Given the description of an element on the screen output the (x, y) to click on. 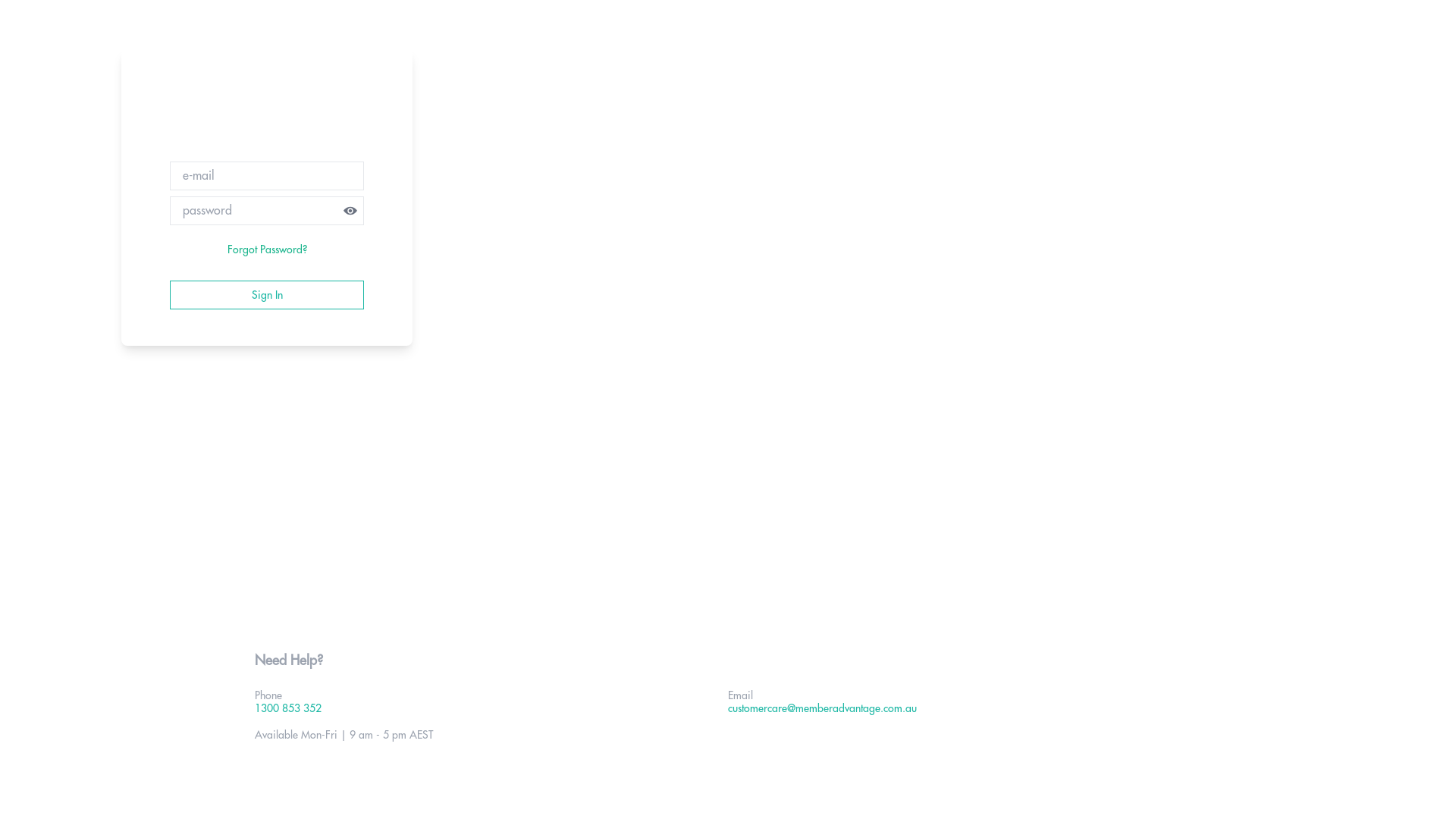
Sign In Element type: text (266, 294)
Forgot Password? Element type: text (267, 249)
